Given the description of an element on the screen output the (x, y) to click on. 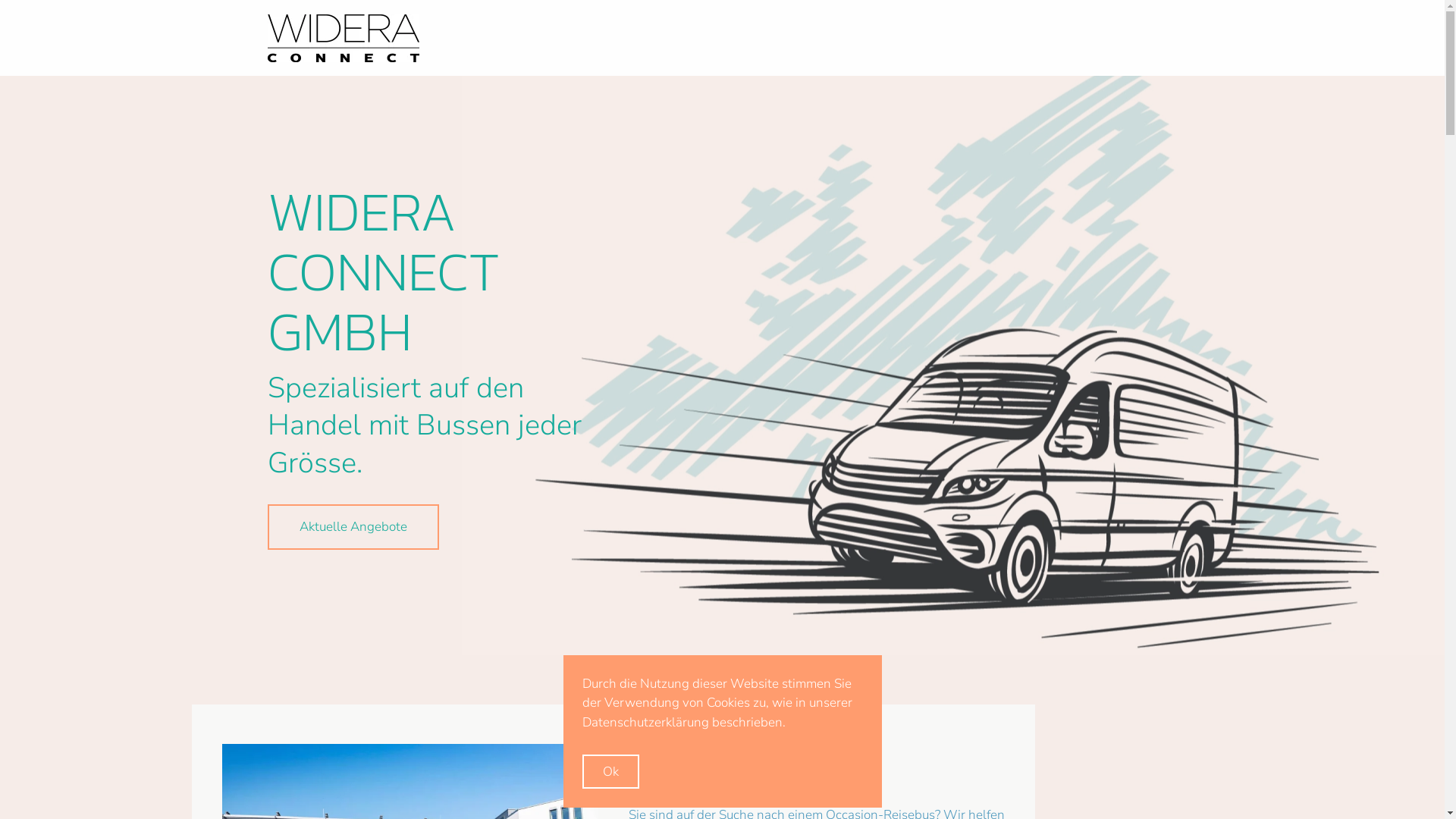
Ok Element type: text (610, 771)
Aktuelle Angebote Element type: text (352, 526)
